Given the description of an element on the screen output the (x, y) to click on. 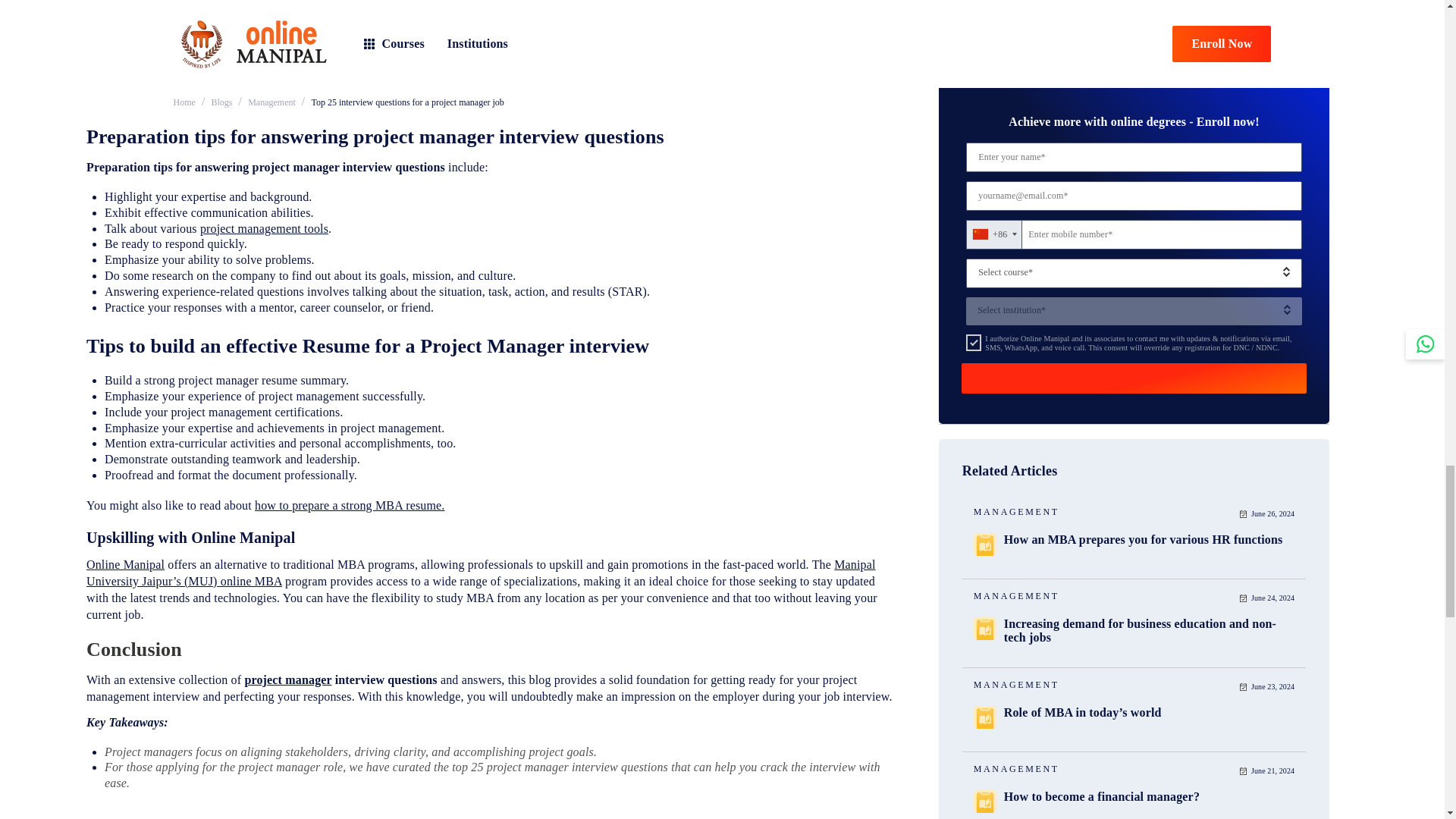
project management tools (264, 228)
project manager (287, 679)
Online Manipal (124, 563)
how to prepare a strong MBA resume. (349, 504)
best online project management courses (236, 101)
